Given the description of an element on the screen output the (x, y) to click on. 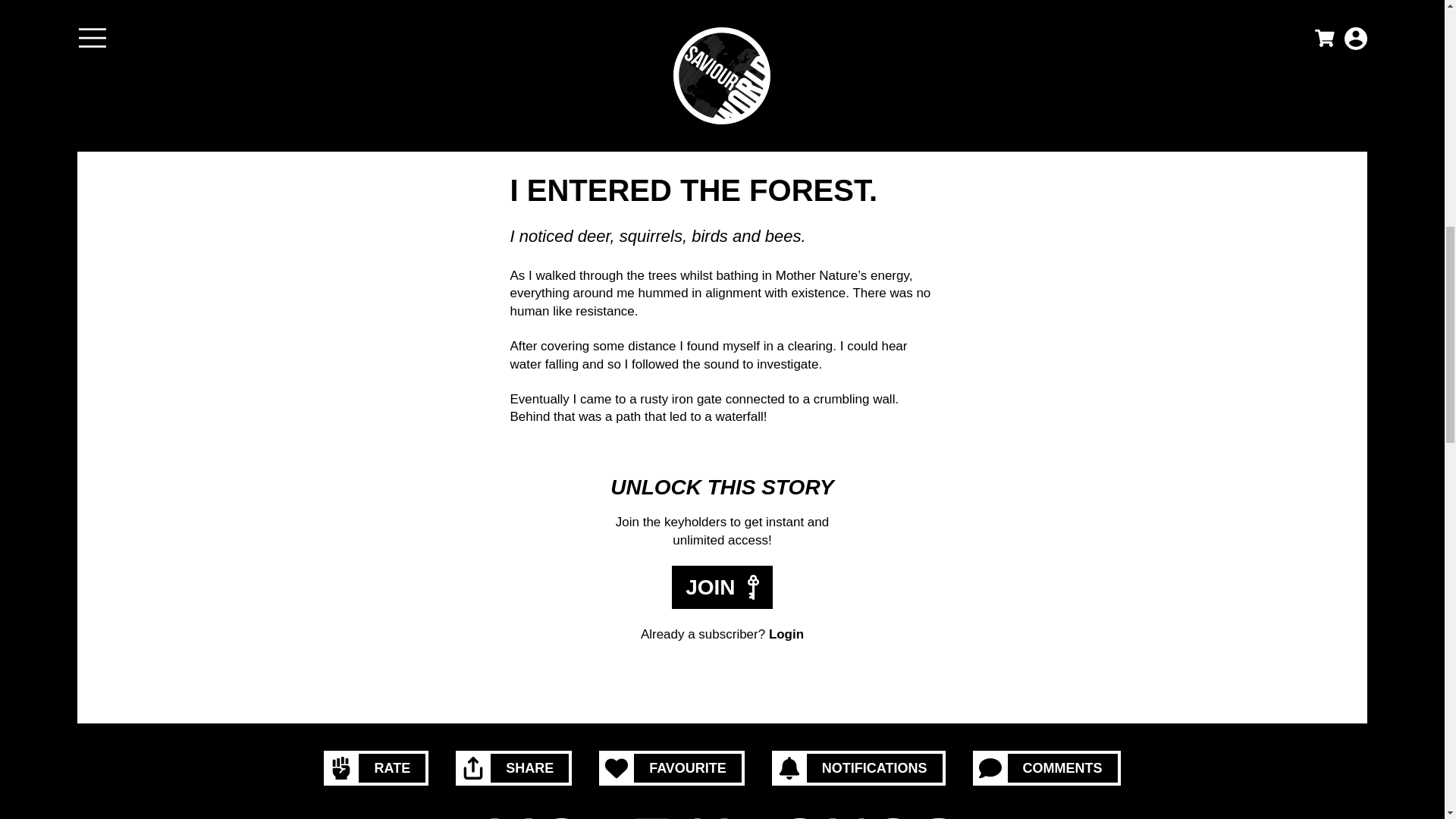
Share (513, 768)
Login (785, 634)
SHARE (513, 768)
RATE (375, 768)
JOIN (722, 586)
NOTIFICATIONS (857, 768)
COMMENTS (1045, 768)
FAVOURITE (671, 768)
